Given the description of an element on the screen output the (x, y) to click on. 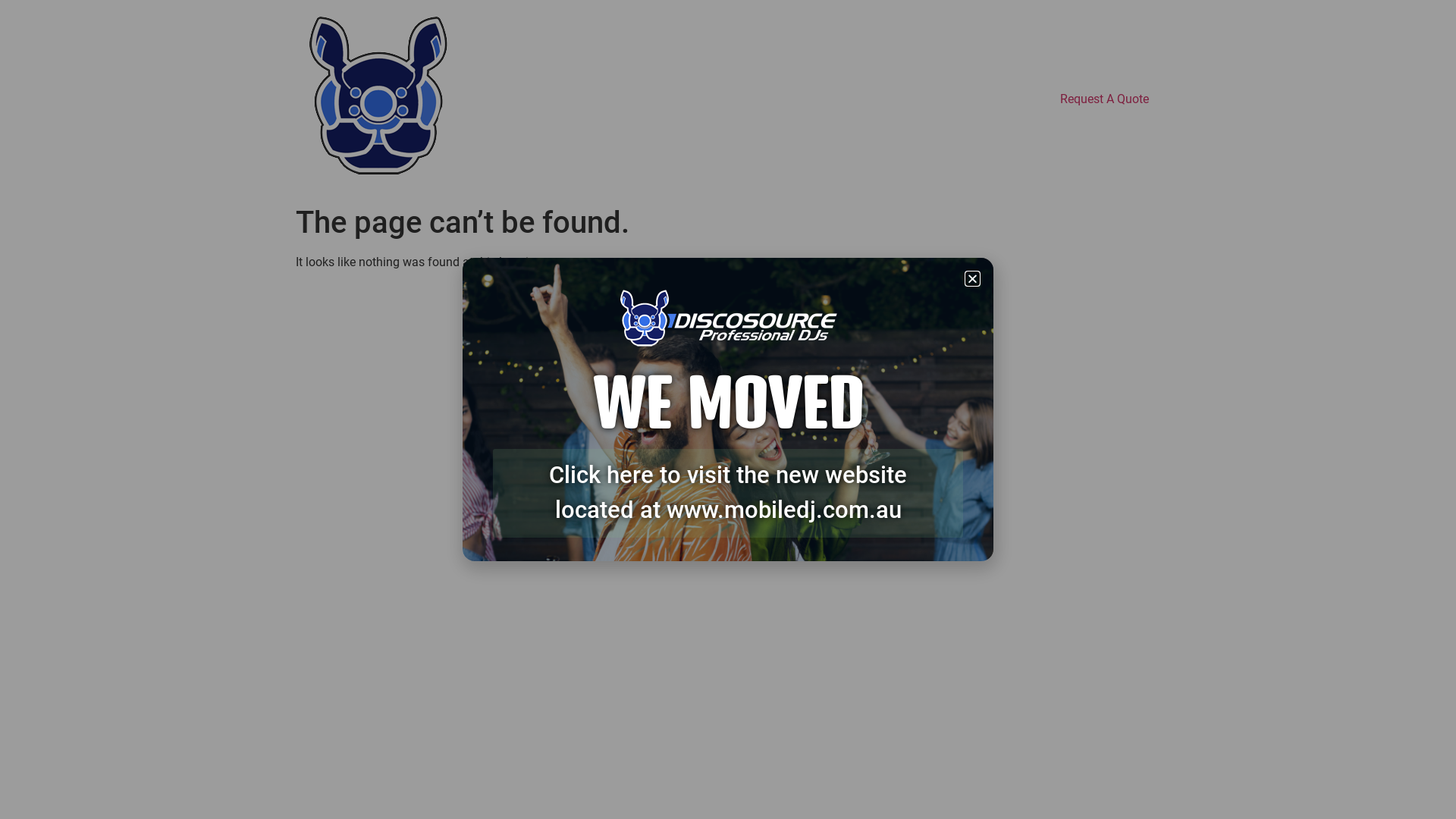
WE MOVED Element type: text (727, 403)
Request A Quote Element type: text (1104, 99)
